Given the description of an element on the screen output the (x, y) to click on. 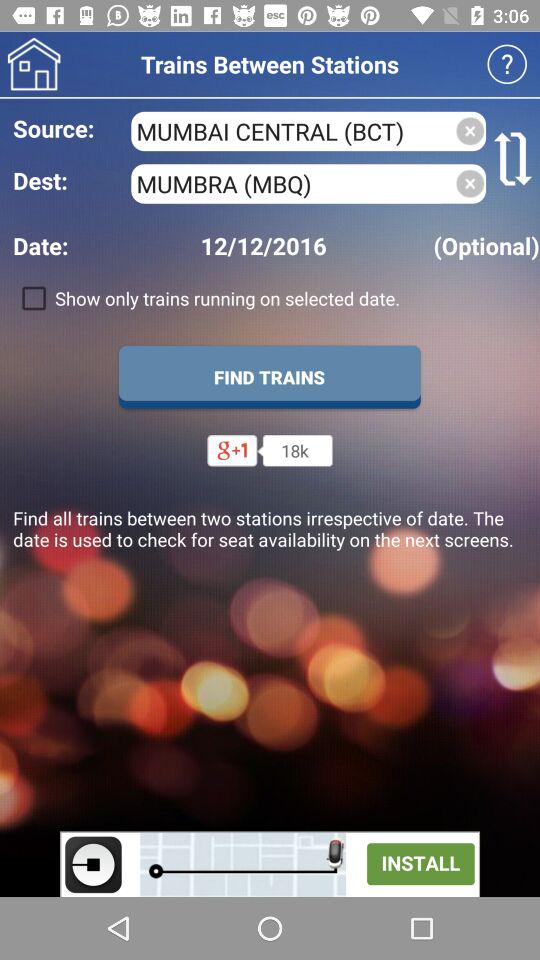
delete (470, 183)
